Given the description of an element on the screen output the (x, y) to click on. 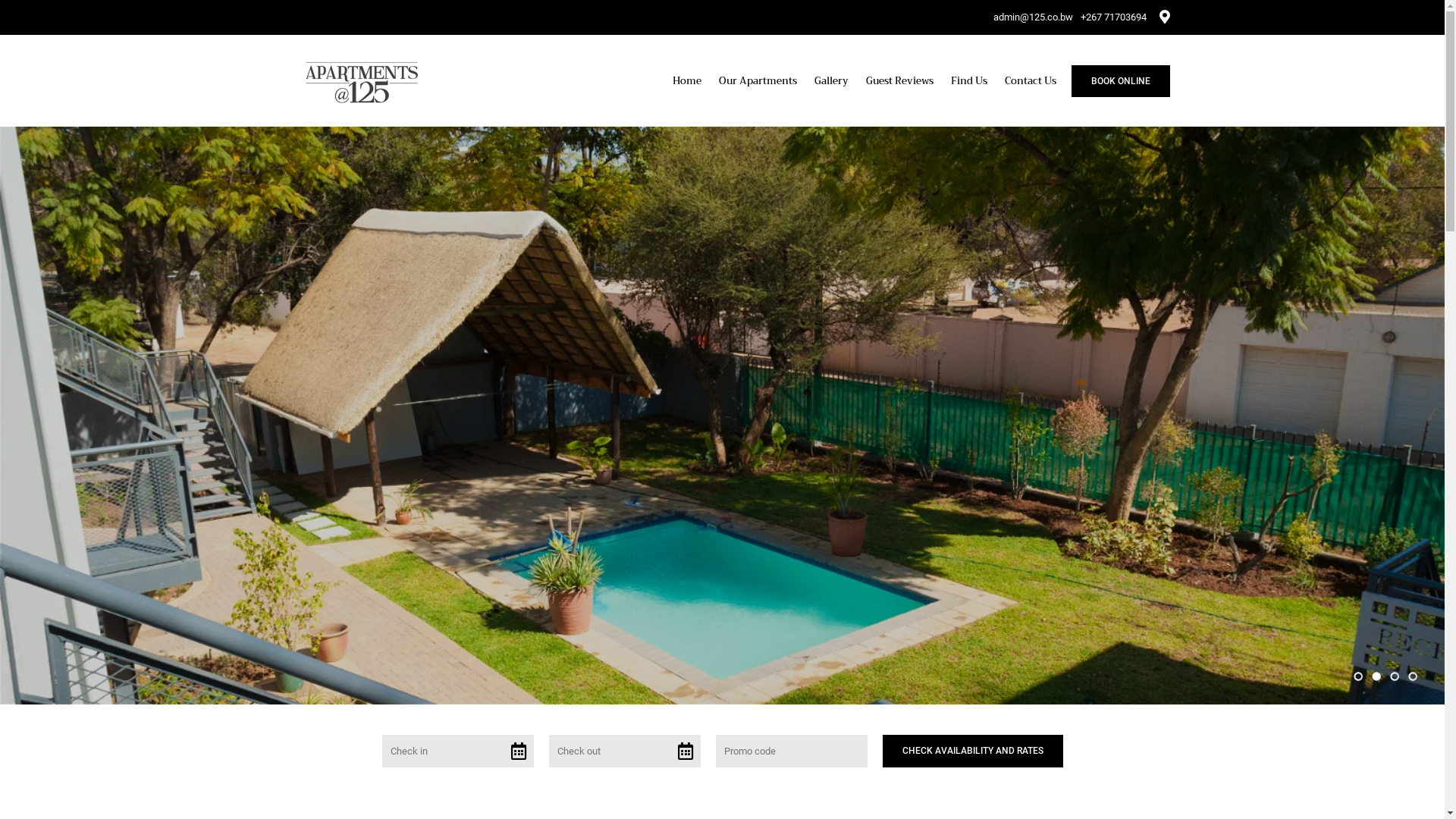
BOOK ONLINE Element type: text (1119, 81)
2 Element type: text (1375, 675)
admin@125.co.bw Element type: text (1033, 16)
3 Element type: text (1394, 675)
Check Availability and Rates Element type: text (972, 750)
Apartments @ Plot 125 Element type: hover (360, 78)
+267 71703694 Element type: text (1112, 16)
Home Element type: text (686, 80)
Find Us Element type: text (968, 80)
Our Apartments Element type: text (757, 80)
Gallery Element type: text (831, 80)
Guest Reviews Element type: text (899, 80)
4 Element type: text (1412, 675)
Contact Us Element type: text (1029, 80)
1 Element type: text (1357, 675)
